Given the description of an element on the screen output the (x, y) to click on. 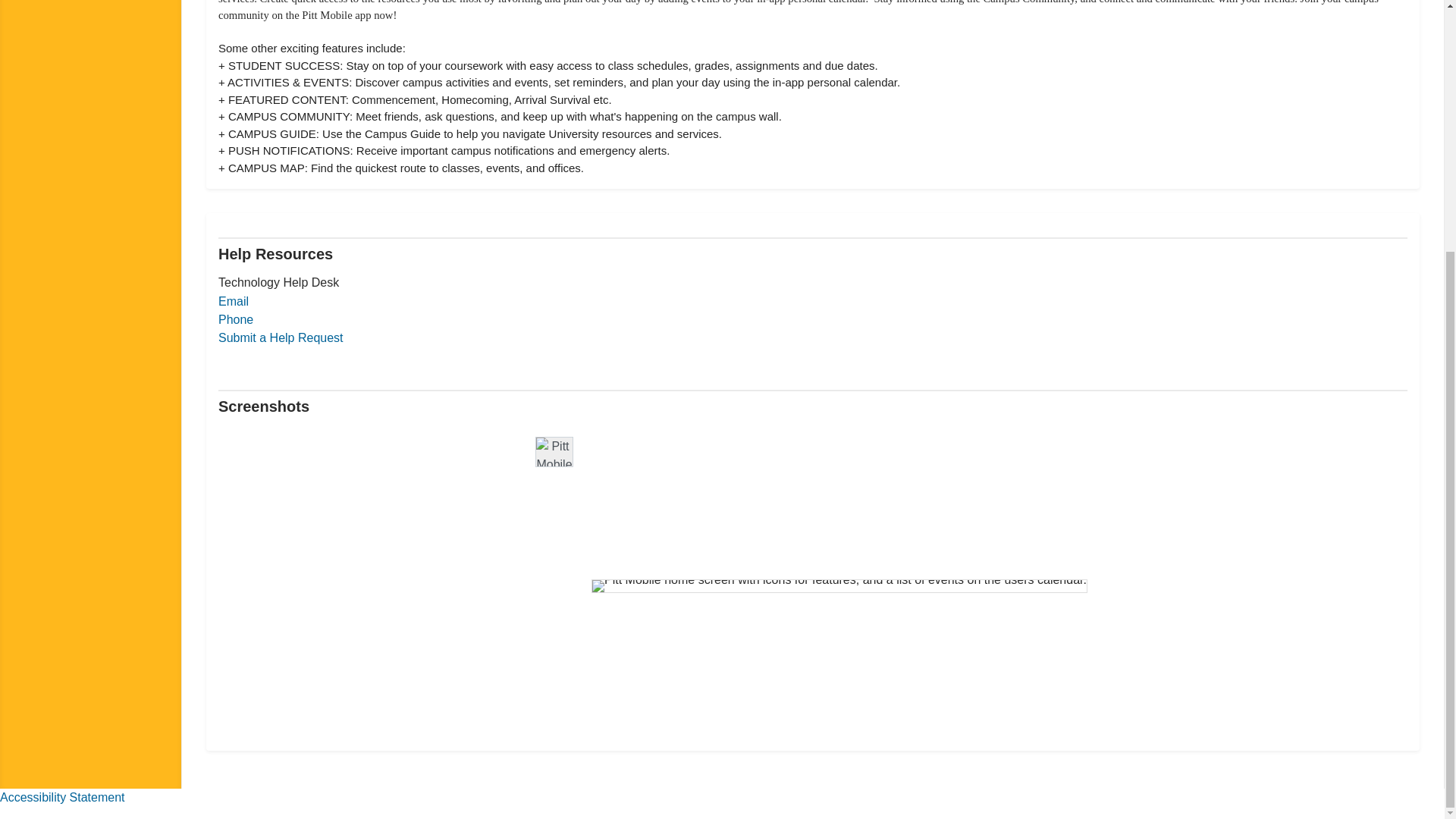
Accessibility Statement (62, 797)
Phone (235, 318)
Email (233, 300)
Submit a Help Request (280, 337)
